Given the description of an element on the screen output the (x, y) to click on. 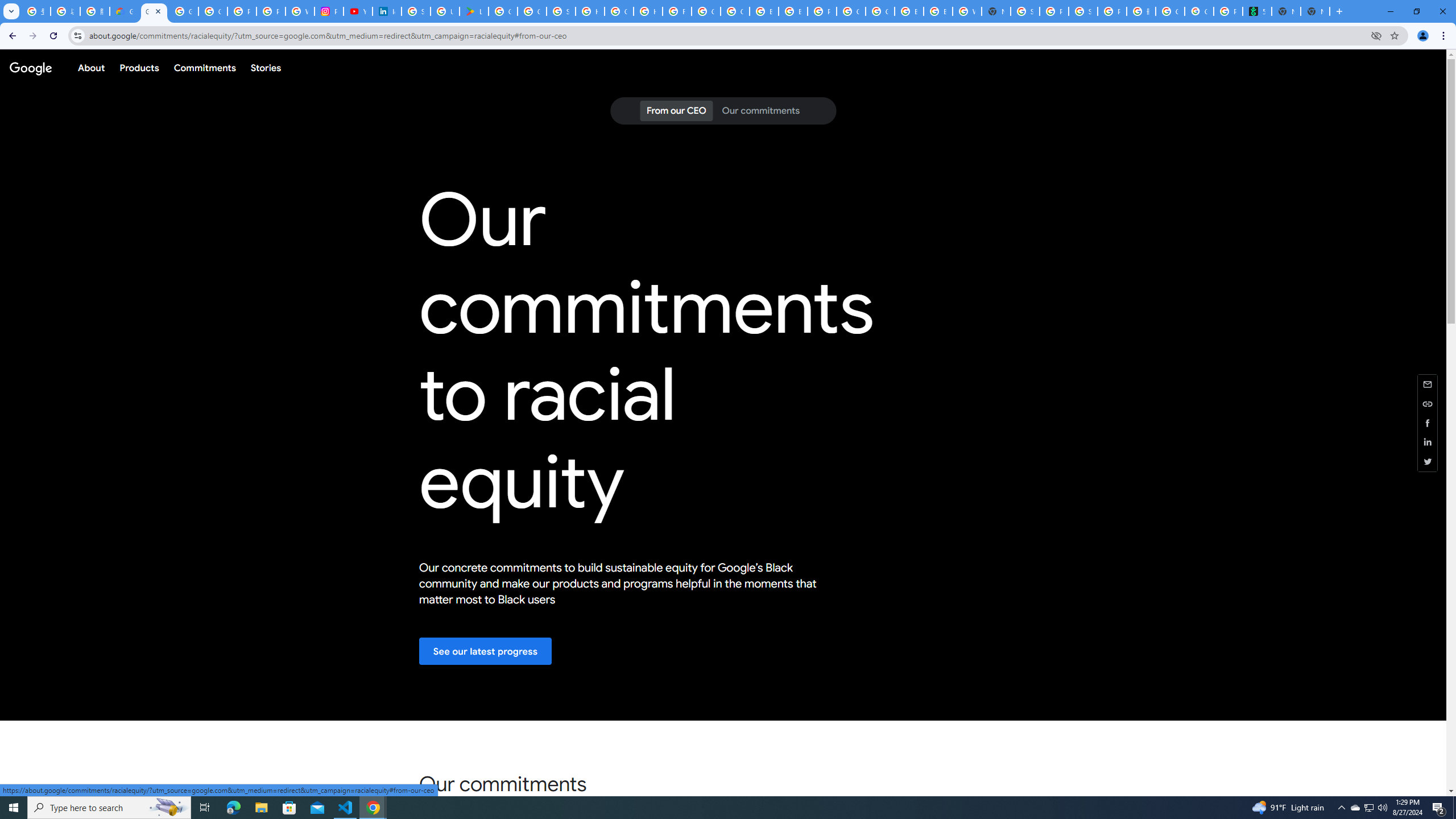
Google Cloud Platform (879, 11)
Products (138, 67)
New Tab (1315, 11)
Commitments (204, 67)
